Given the description of an element on the screen output the (x, y) to click on. 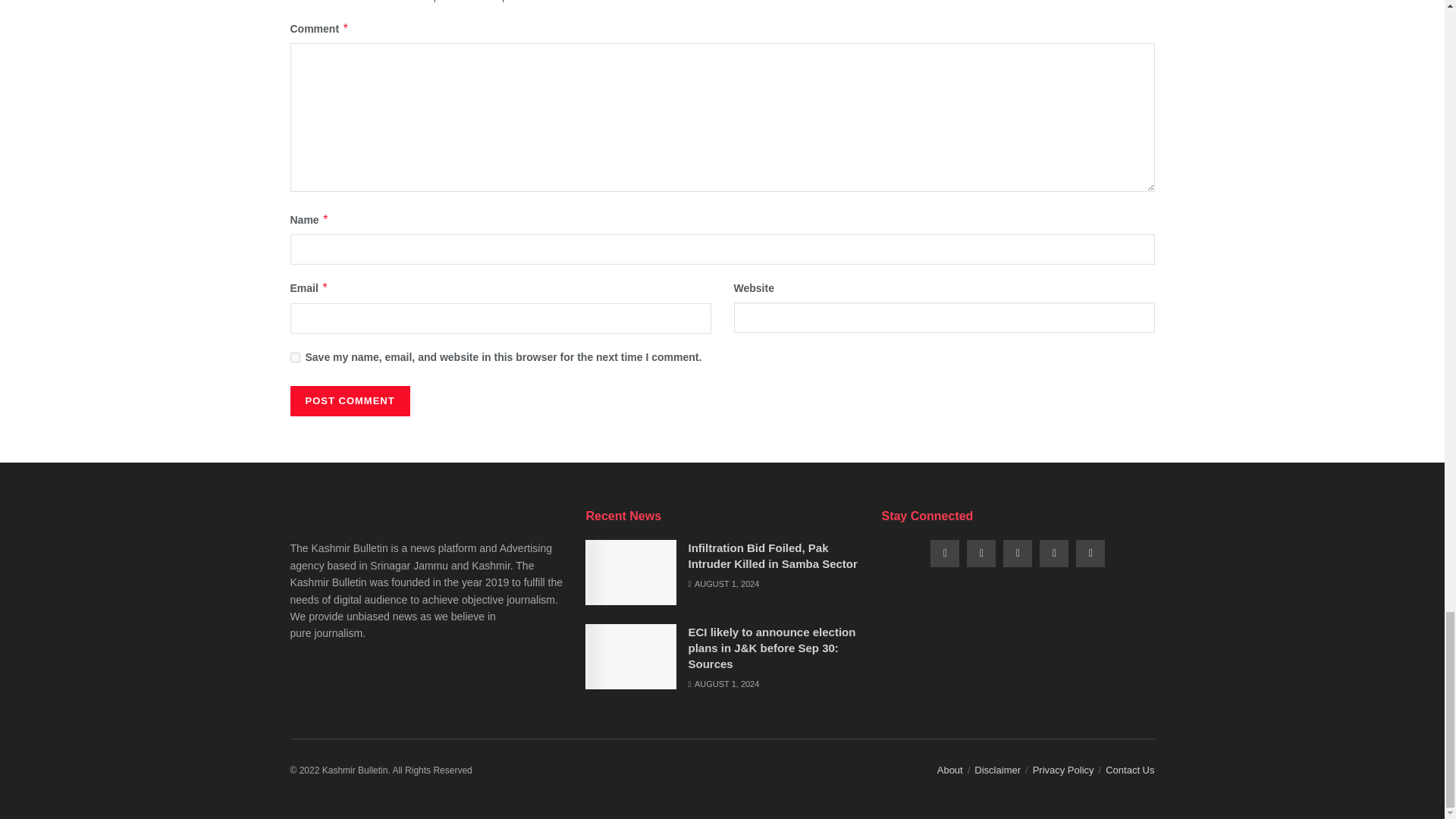
Post Comment (349, 400)
yes (294, 357)
